Given the description of an element on the screen output the (x, y) to click on. 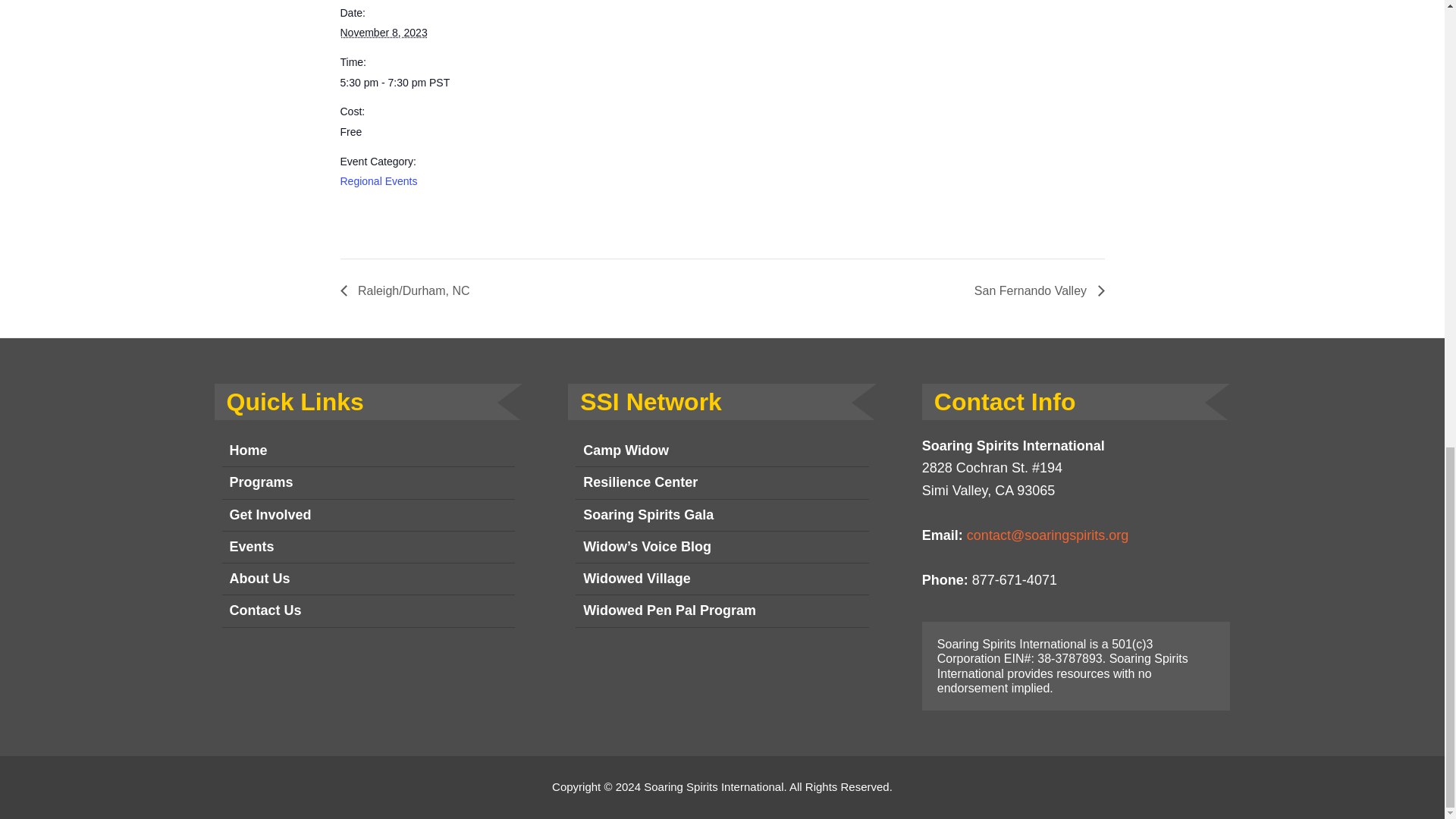
2023-11-08 (382, 32)
2023-11-08 (403, 82)
